Given the description of an element on the screen output the (x, y) to click on. 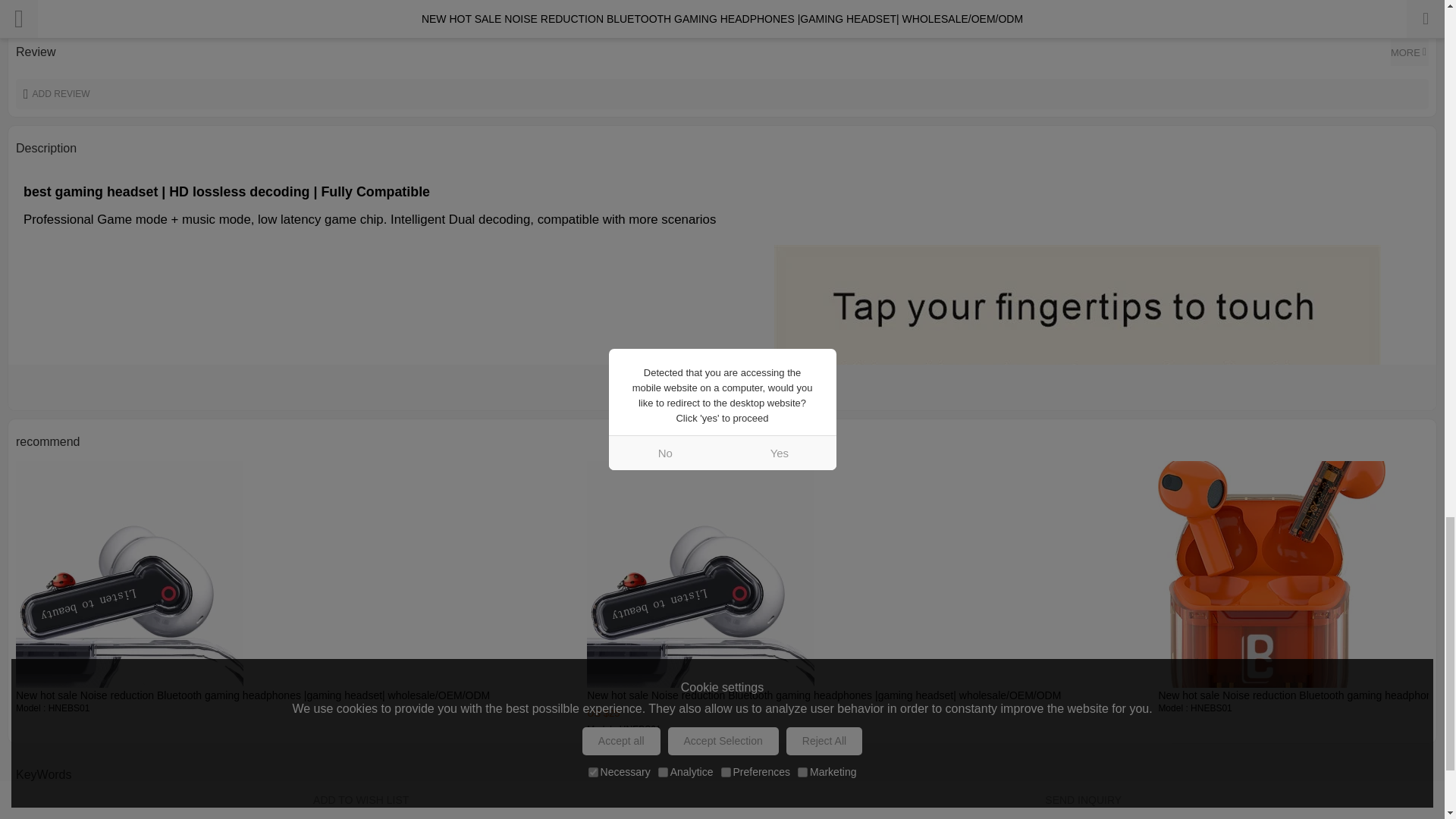
MORE (1409, 52)
ADD REVIEW (722, 93)
VIEW MORE (721, 387)
Review (1409, 52)
Add review (722, 93)
View More (721, 387)
